Given the description of an element on the screen output the (x, y) to click on. 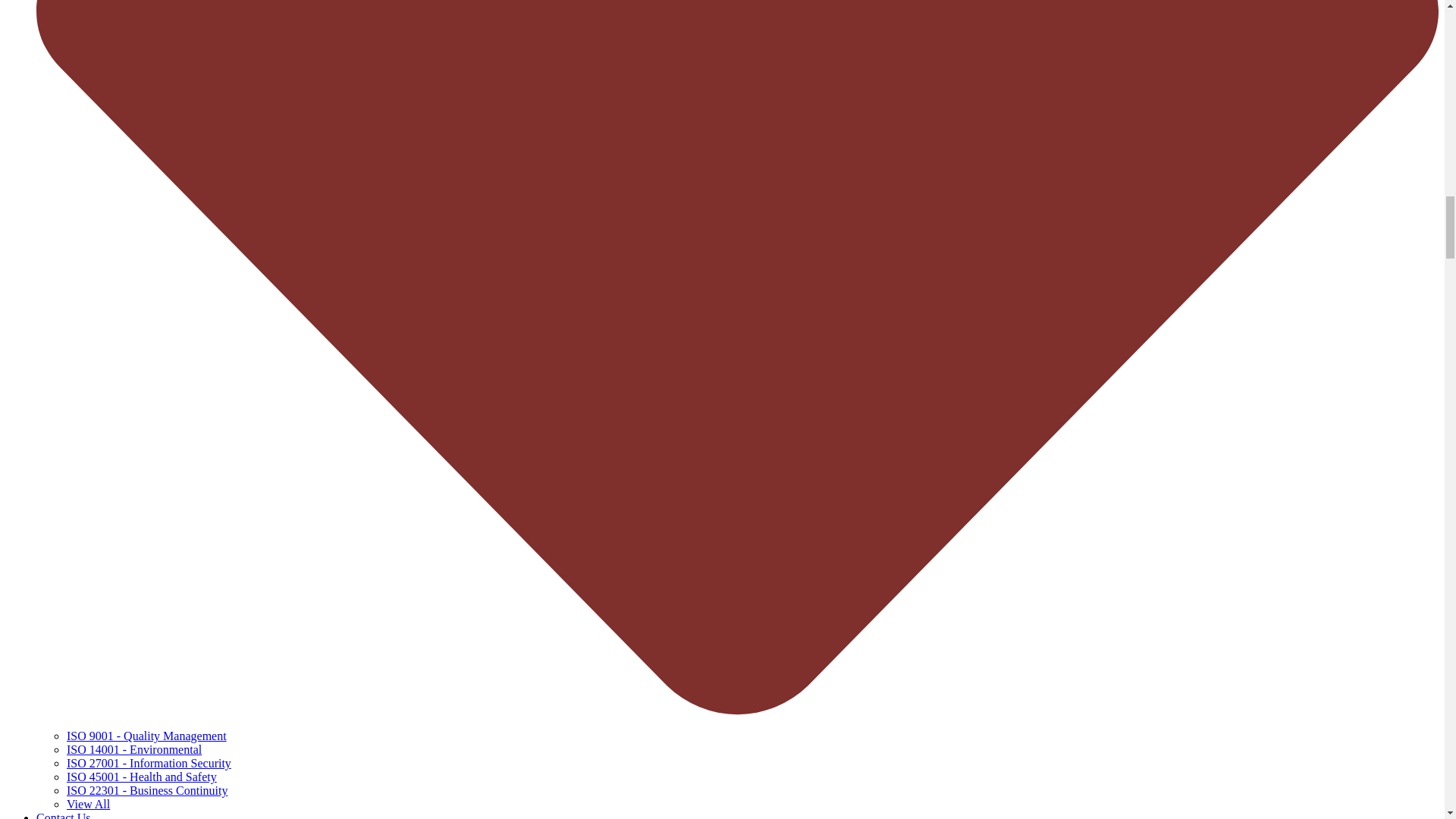
ISO 45001 - Health and Safety (141, 776)
ISO 27001 - Information Security (148, 762)
ISO 9001 - Quality Management (146, 735)
Contact Us (63, 815)
ISO 22301 - Business Continuity (146, 789)
View All (88, 803)
ISO 14001 - Environmental (134, 748)
